Given the description of an element on the screen output the (x, y) to click on. 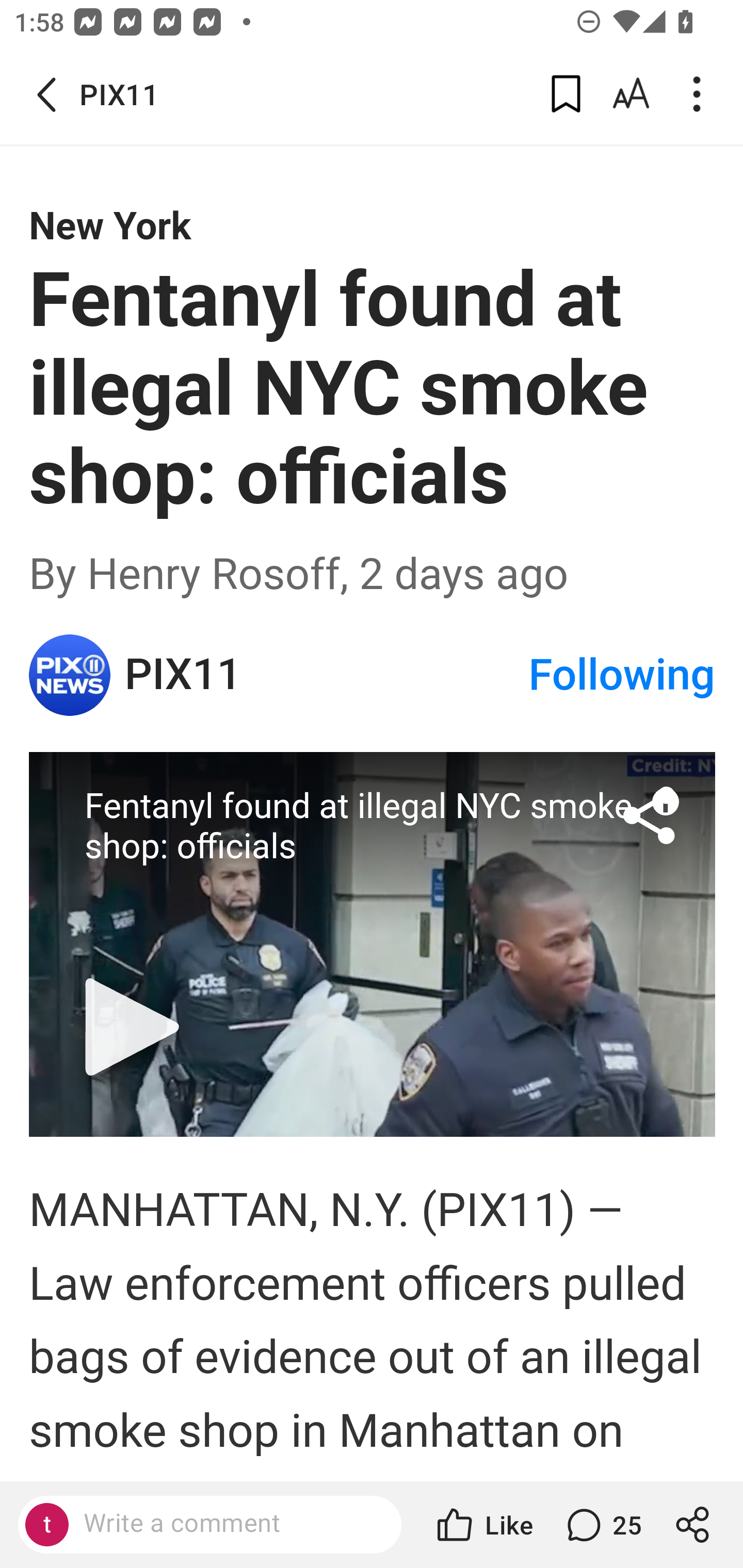
PIX11 (70, 674)
PIX11 (325, 674)
Following (621, 674)
Like (483, 1524)
25 (601, 1524)
Write a comment (209, 1524)
Write a comment (226, 1523)
